Given the description of an element on the screen output the (x, y) to click on. 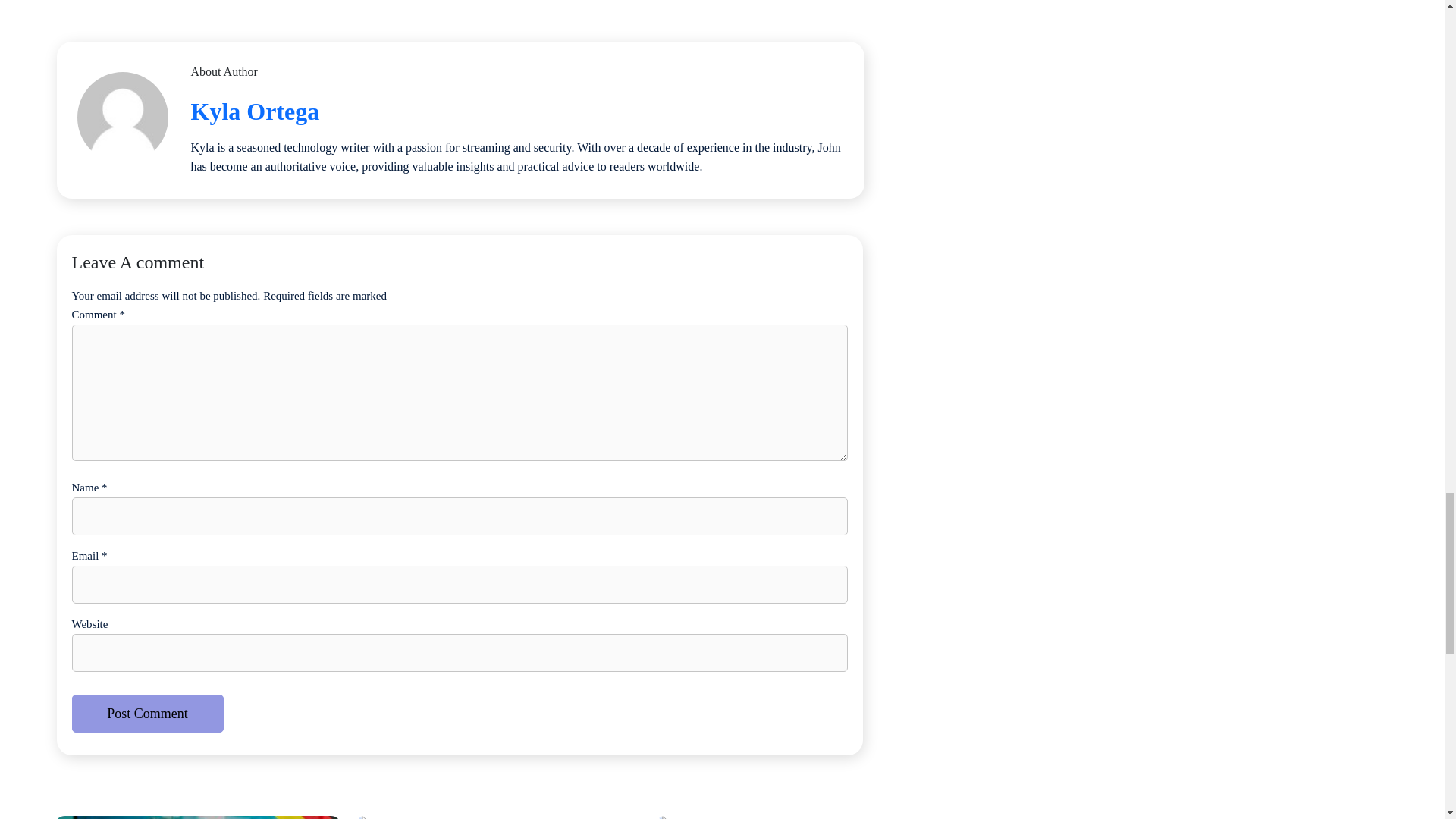
Post Comment (146, 713)
Kyla Ortega (255, 111)
Post Comment (146, 713)
Previous (863, 785)
